Given the description of an element on the screen output the (x, y) to click on. 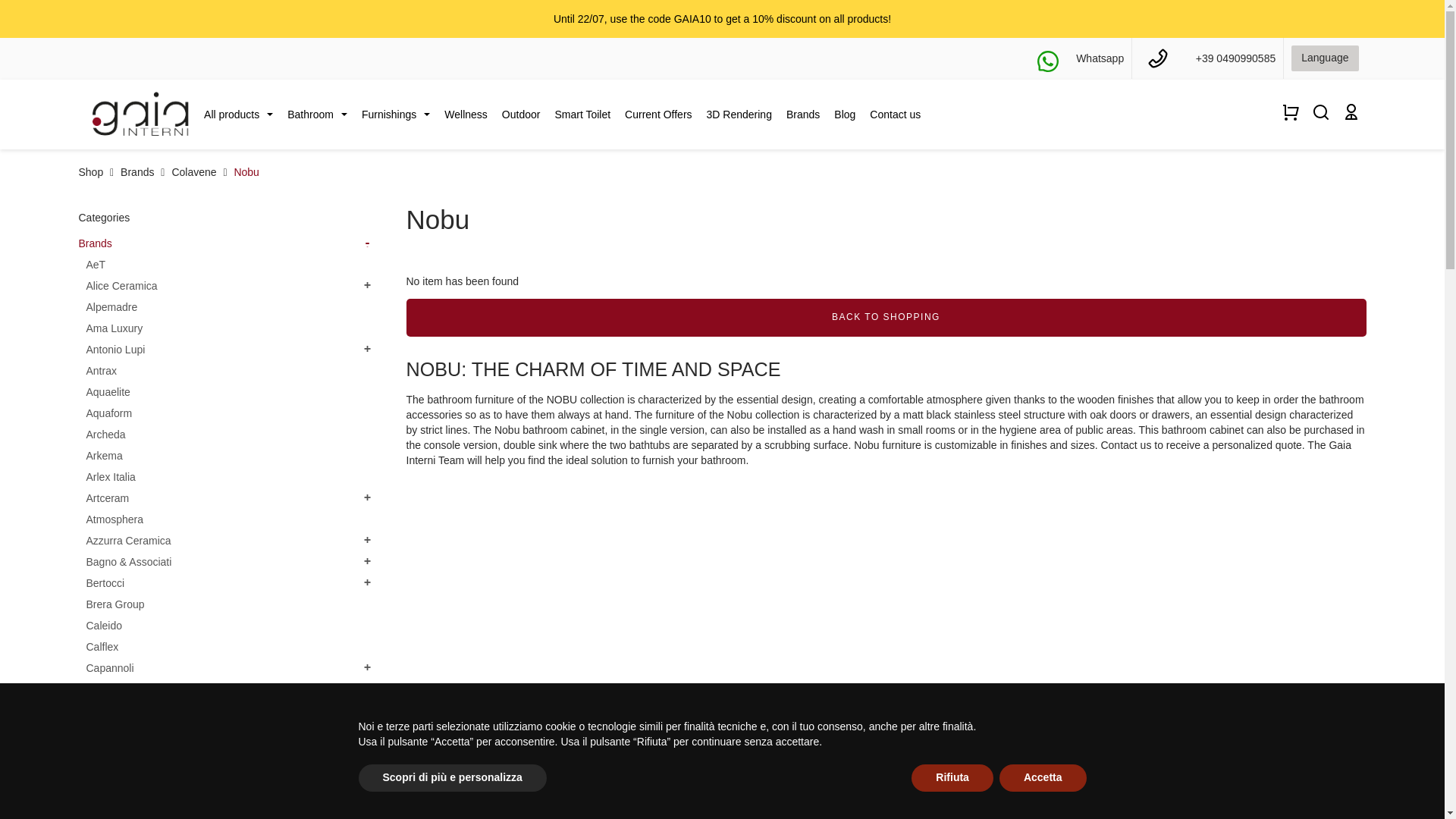
Whatsapp (1099, 58)
Wellness (465, 114)
Bathroom (317, 114)
GaiaInterni (138, 113)
Language (1324, 58)
Furnishings (395, 114)
